Given the description of an element on the screen output the (x, y) to click on. 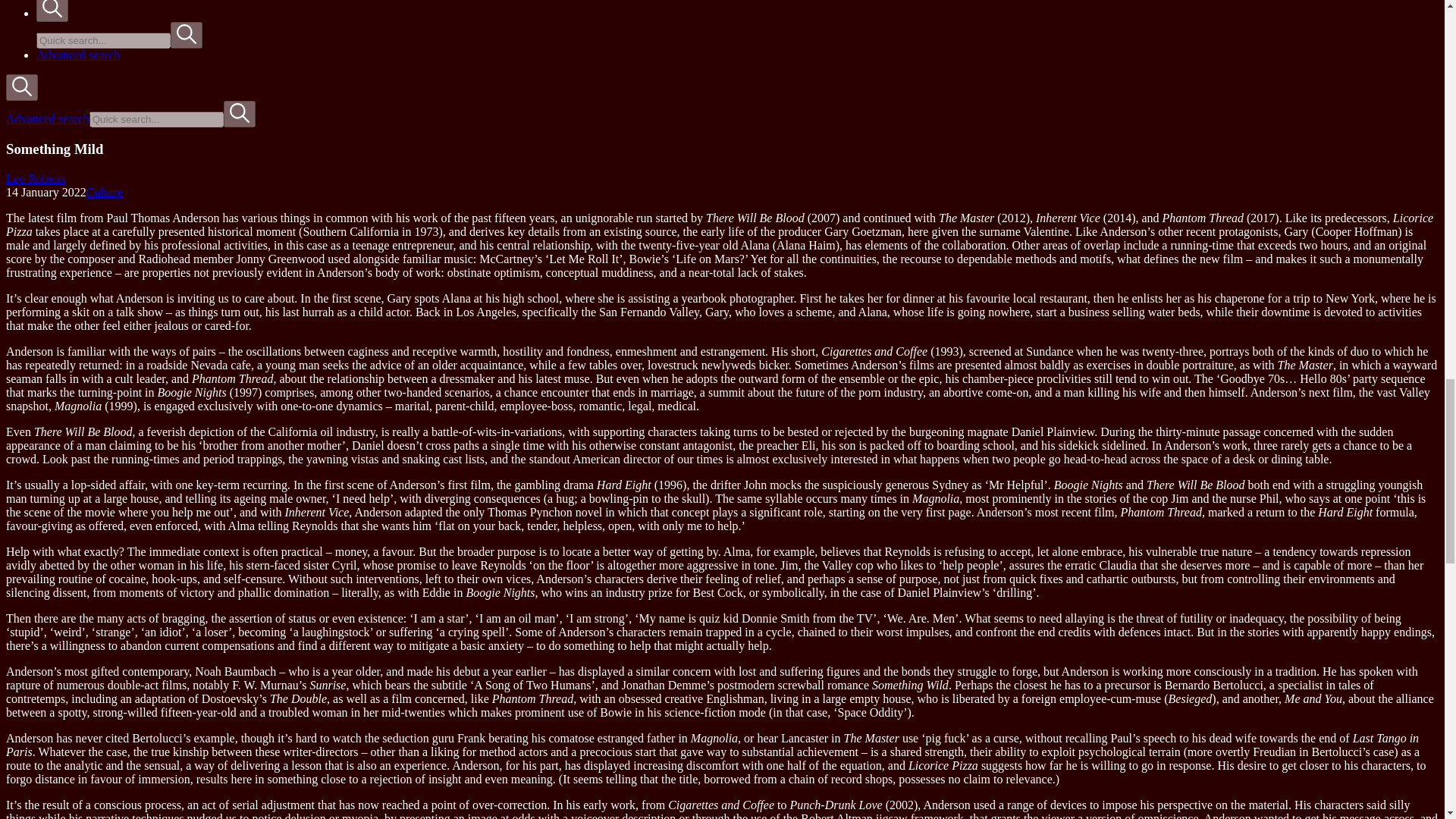
Advanced search (46, 118)
Leo Robson (35, 178)
Culture (103, 192)
Advanced search (77, 54)
